Given the description of an element on the screen output the (x, y) to click on. 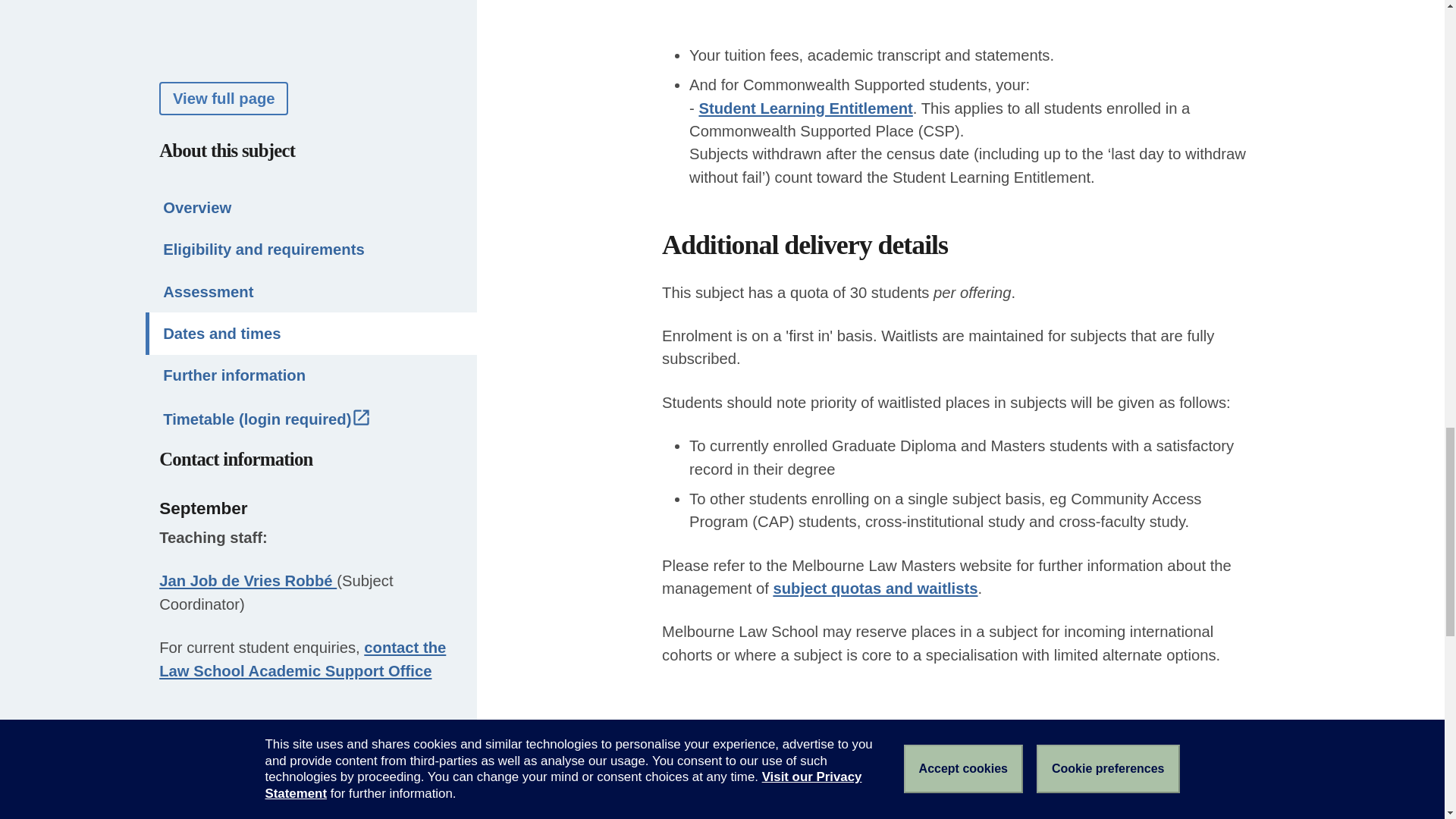
Student Learning Entitlement (805, 108)
Student Learning Entitlement (805, 108)
Prev: Assessment (678, 766)
Next: Further information (1216, 766)
subject quotas and waitlists (874, 588)
